Given the description of an element on the screen output the (x, y) to click on. 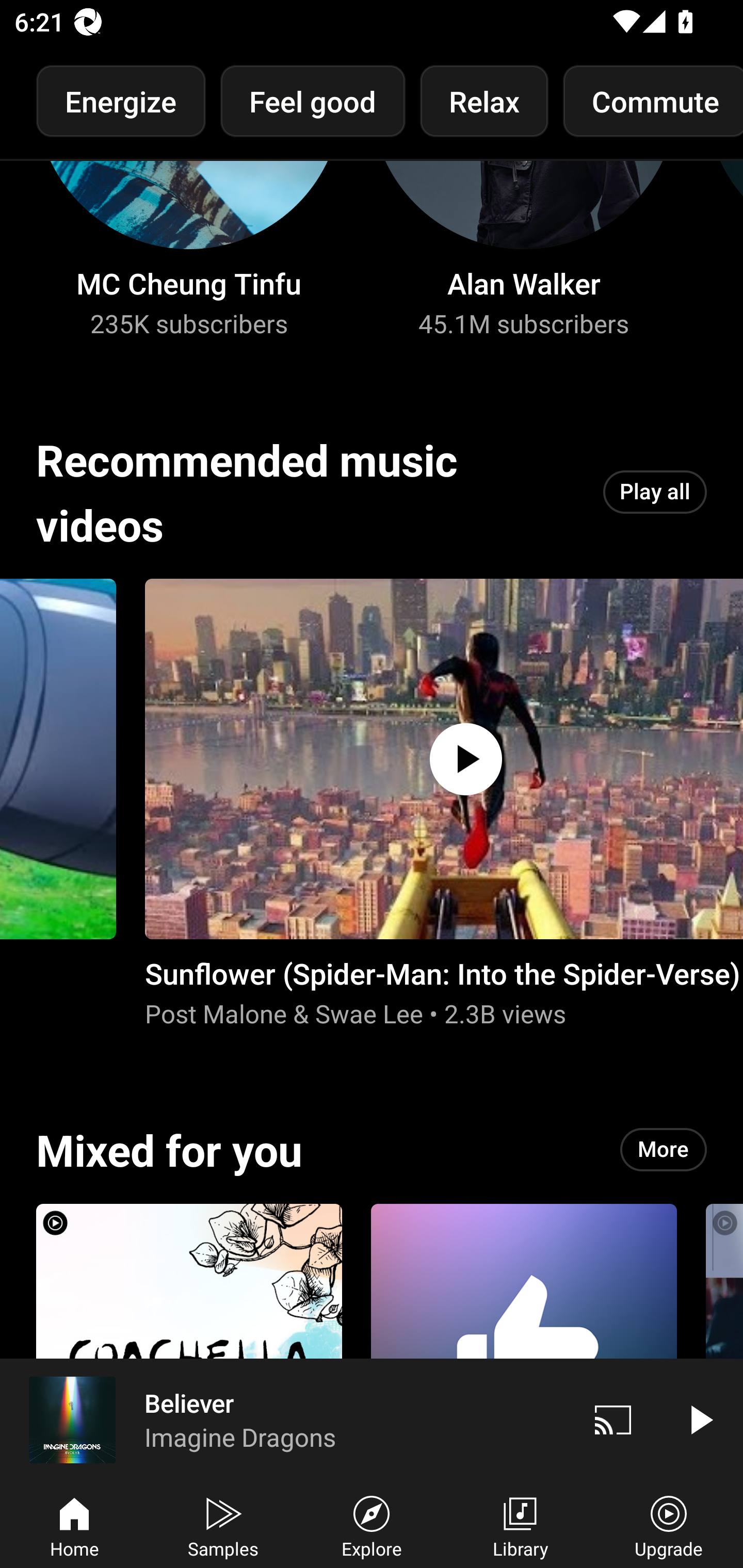
Believer Imagine Dragons (284, 1419)
Cast. Disconnected (612, 1419)
Play video (699, 1419)
Home (74, 1524)
Samples (222, 1524)
Explore (371, 1524)
Library (519, 1524)
Upgrade (668, 1524)
